Given the description of an element on the screen output the (x, y) to click on. 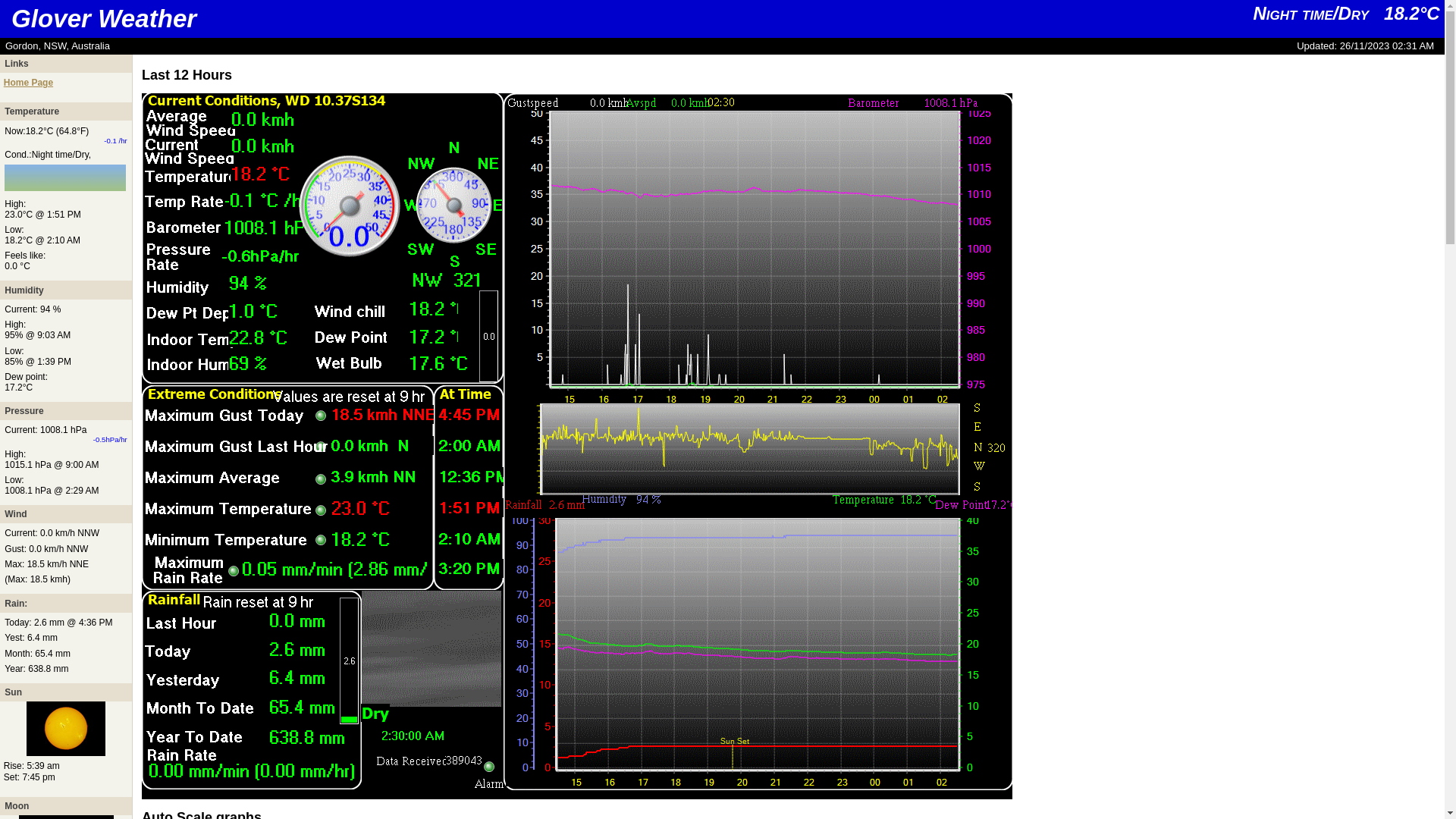
Home Page Element type: text (28, 82)
Glover Weather Element type: text (103, 18)
